Given the description of an element on the screen output the (x, y) to click on. 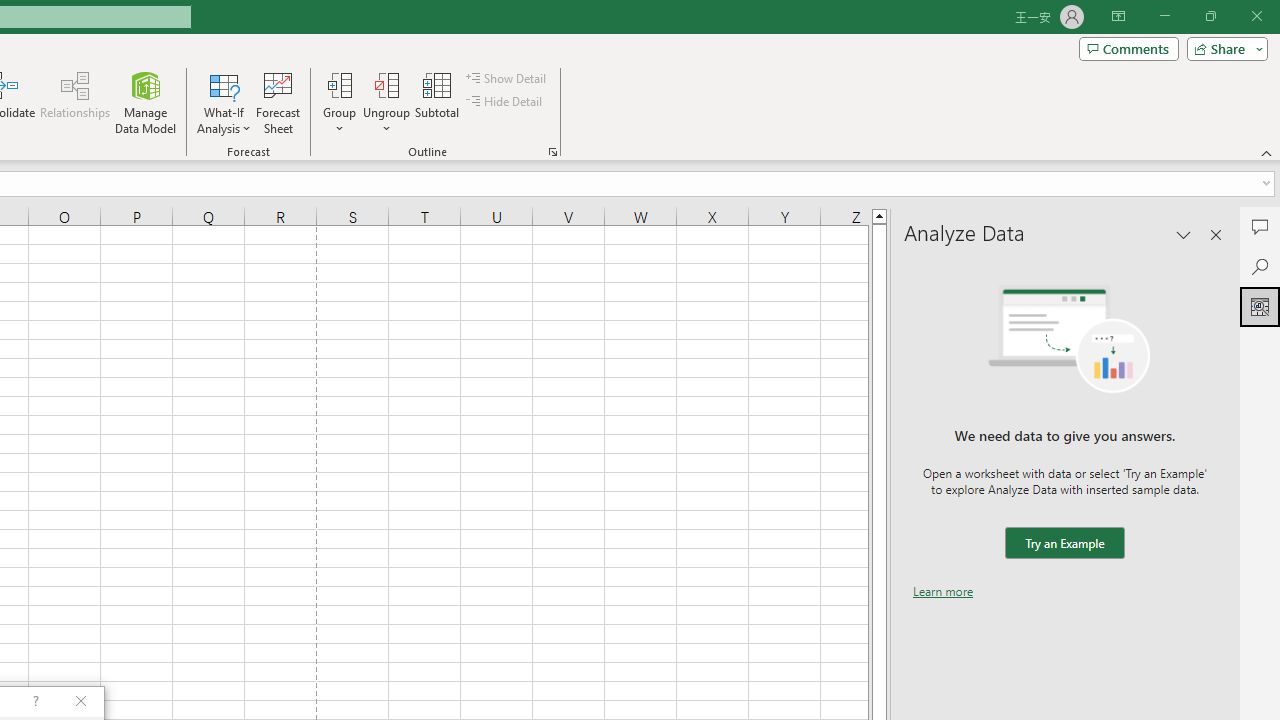
Learn more (943, 591)
Hide Detail (505, 101)
Show Detail (507, 78)
Relationships (75, 102)
Subtotal (437, 102)
Group and Outline Settings (552, 151)
We need data to give you answers. Try an Example (1064, 543)
